Given the description of an element on the screen output the (x, y) to click on. 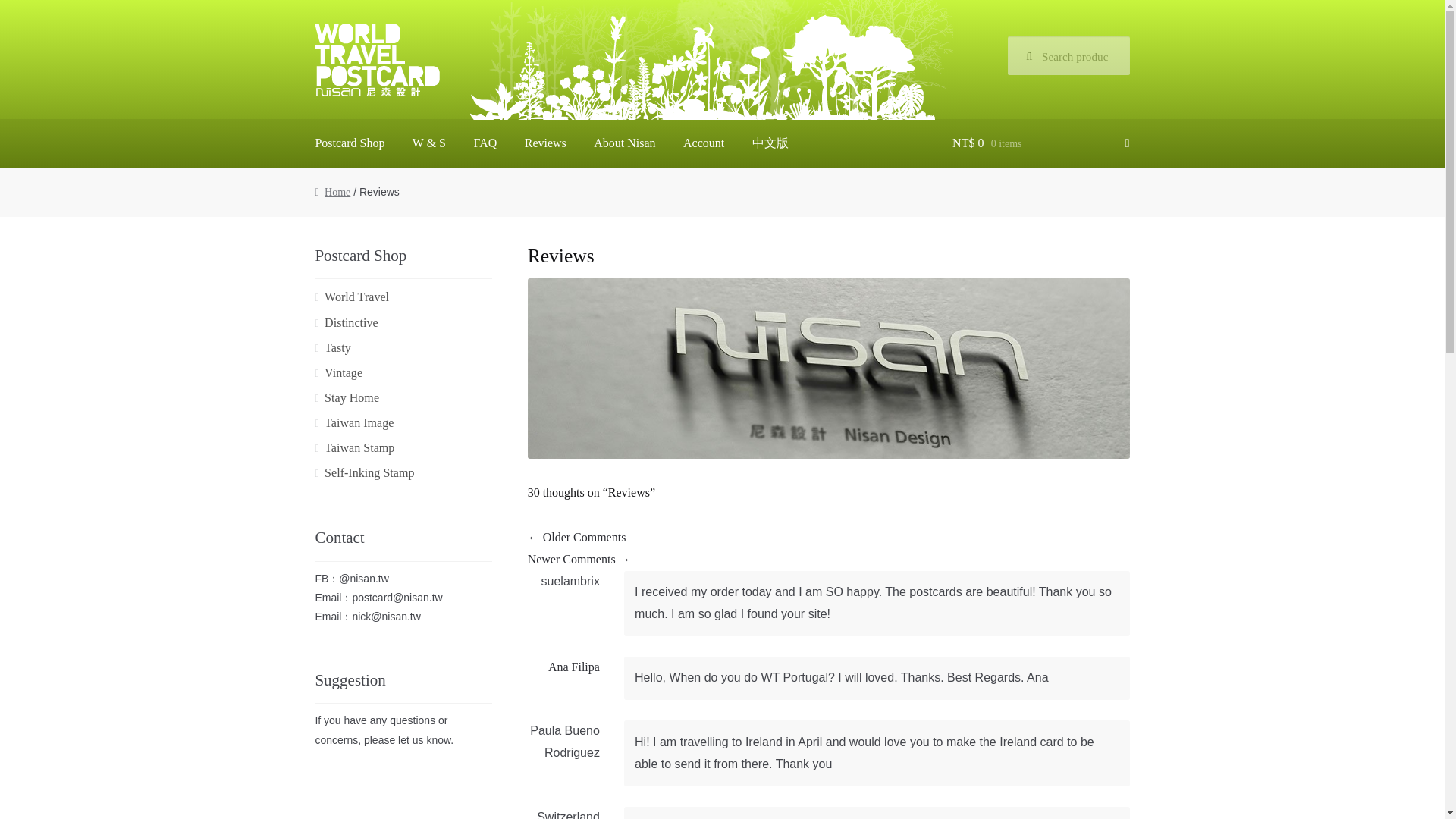
Search (1042, 52)
Distinctive (351, 321)
View your shopping cart (1040, 143)
Account (703, 143)
Search (1042, 52)
Postcard Shop (349, 143)
World Travel (356, 296)
Self-Inking Stamp (368, 472)
Taiwan Stamp (359, 447)
Skip to content (351, 33)
